Given the description of an element on the screen output the (x, y) to click on. 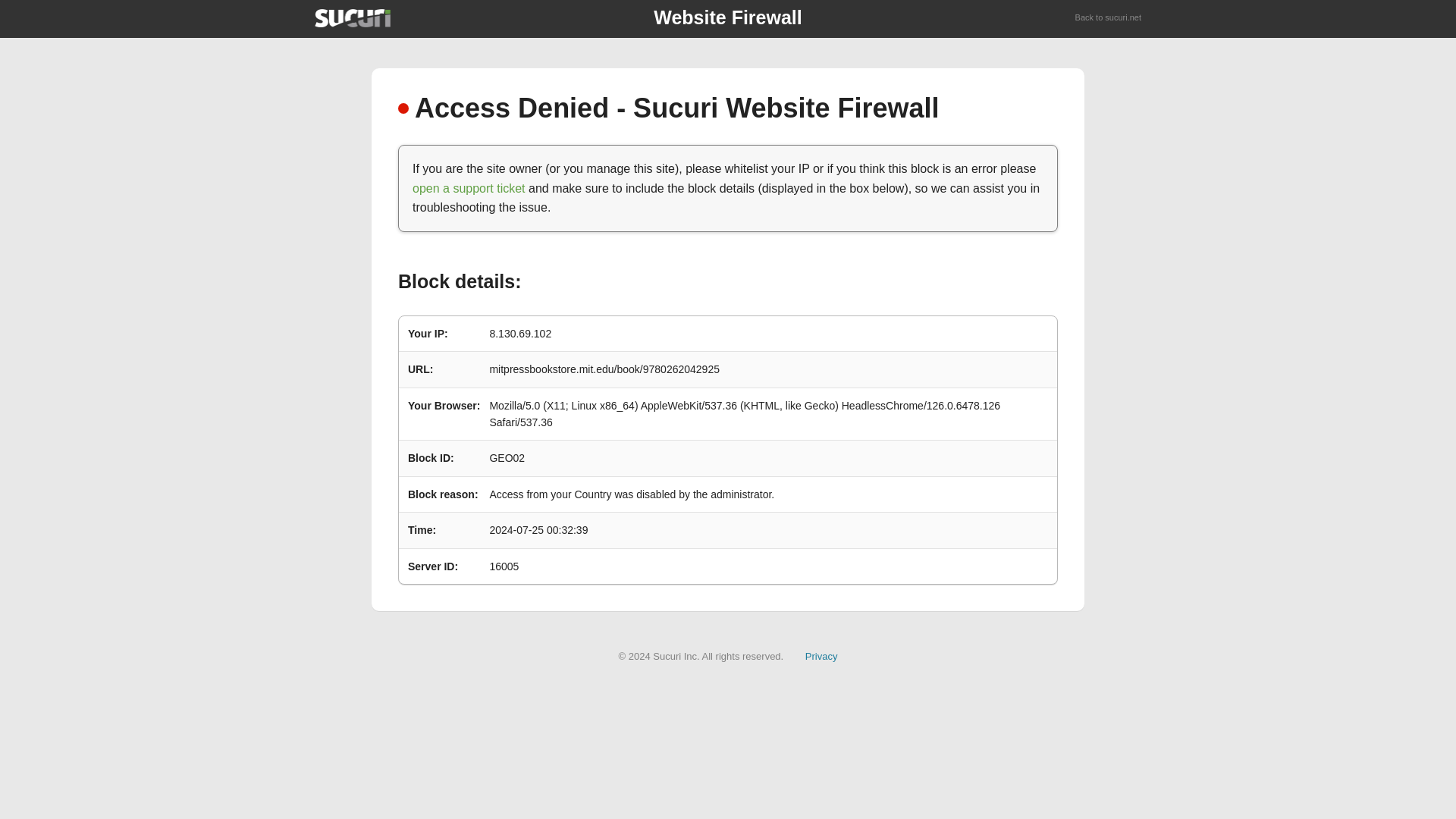
open a support ticket (468, 187)
Privacy (821, 655)
Back to sucuri.net (1108, 18)
